Given the description of an element on the screen output the (x, y) to click on. 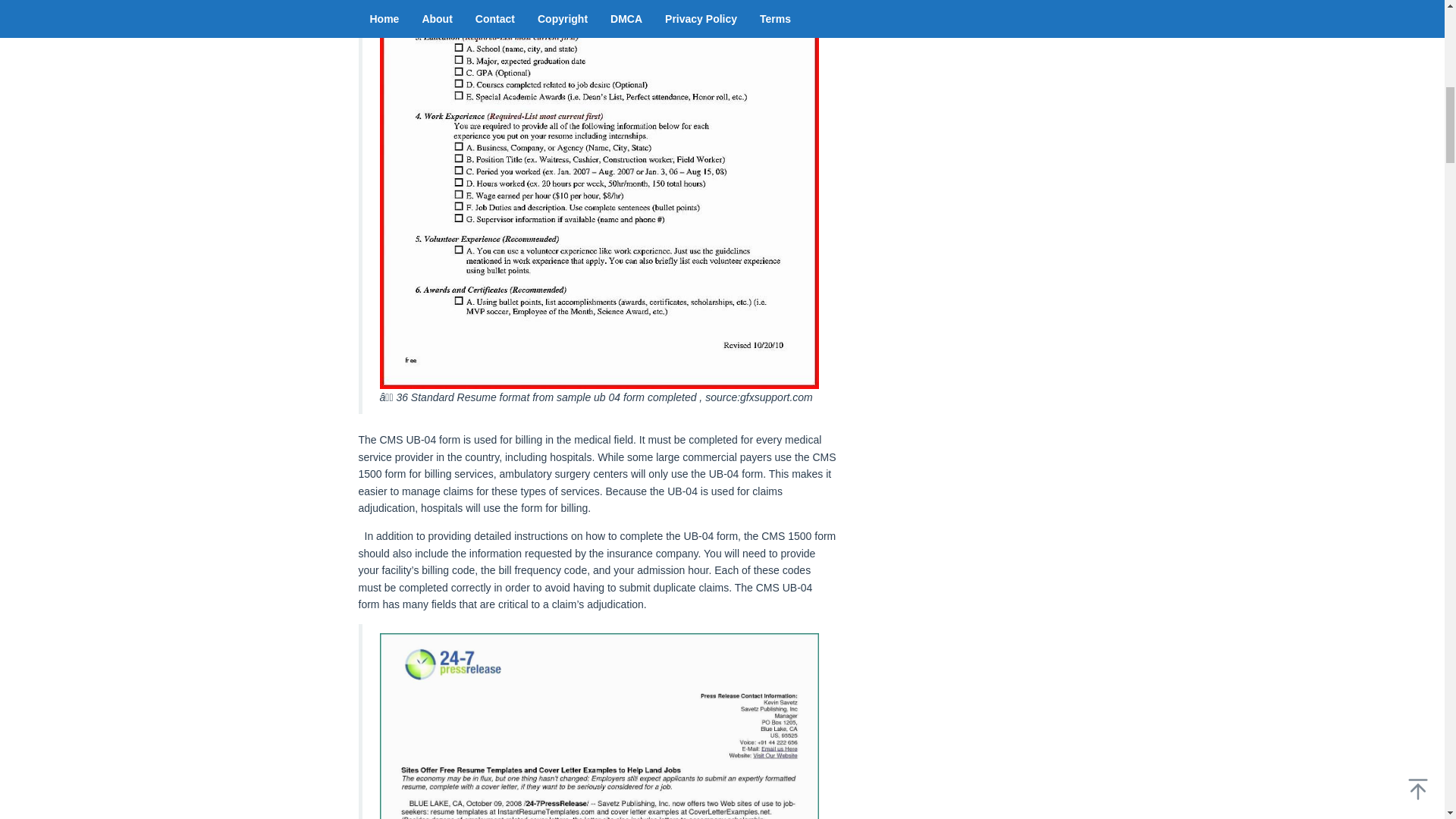
Letter Sample for Introduction Cover Letter Intro Unique (598, 726)
